Given the description of an element on the screen output the (x, y) to click on. 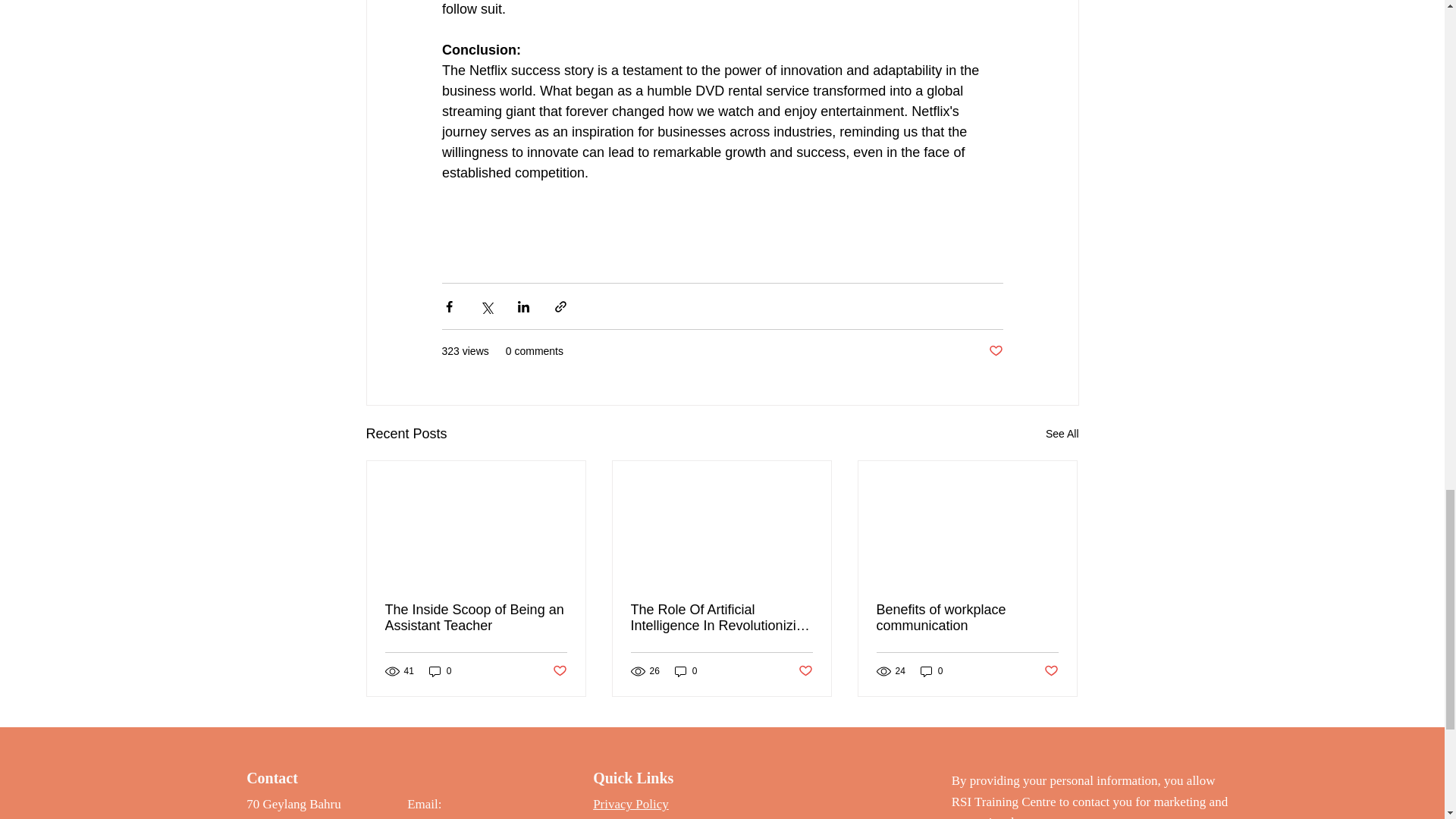
Benefits of workplace communication (967, 617)
Post not marked as liked (558, 671)
The Inside Scoop of Being an Assistant Teacher (476, 617)
See All (1061, 434)
Post not marked as liked (995, 351)
0 (685, 671)
0 (440, 671)
Post not marked as liked (804, 671)
